Given the description of an element on the screen output the (x, y) to click on. 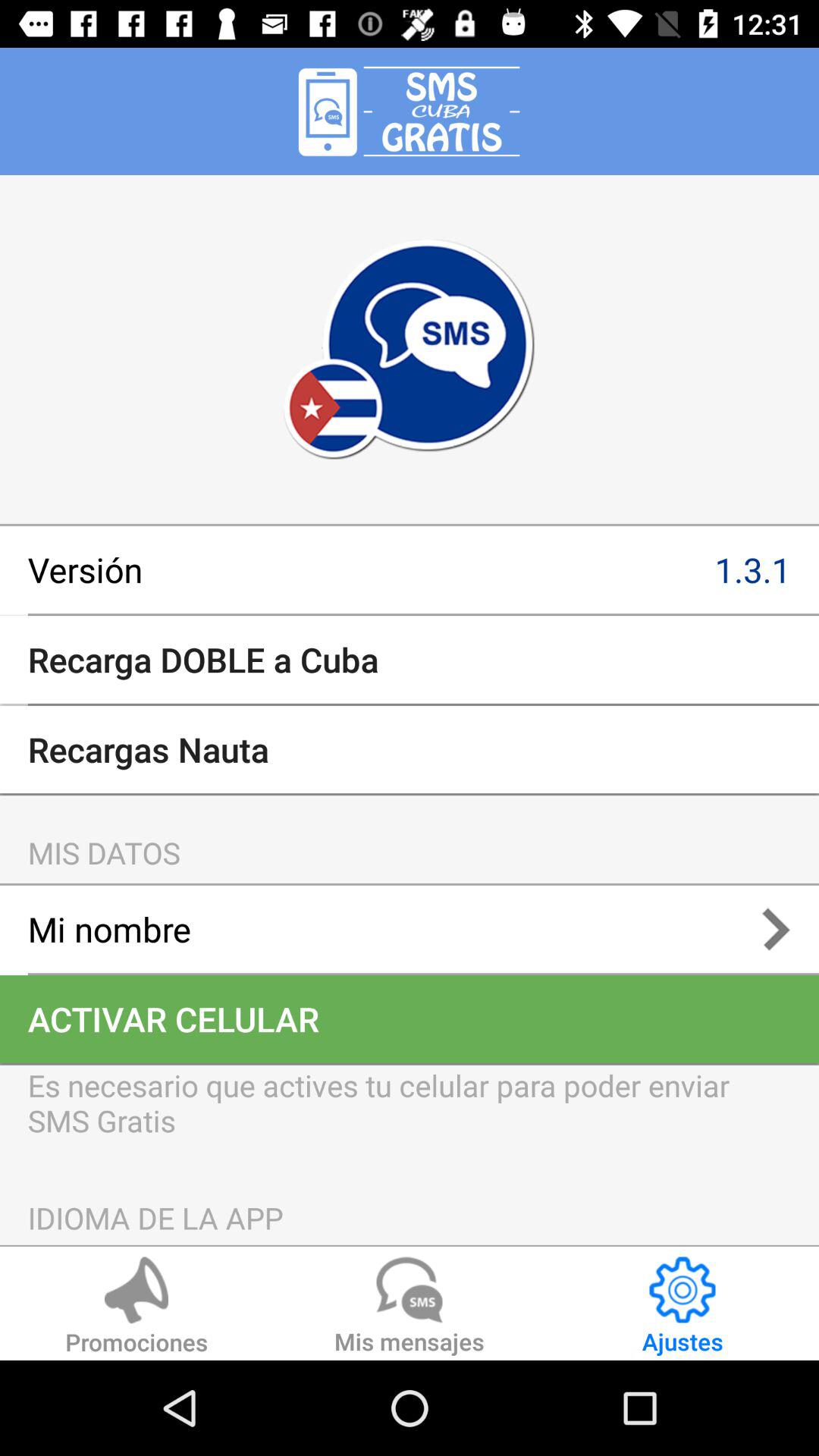
select activar celular item (409, 1018)
